Given the description of an element on the screen output the (x, y) to click on. 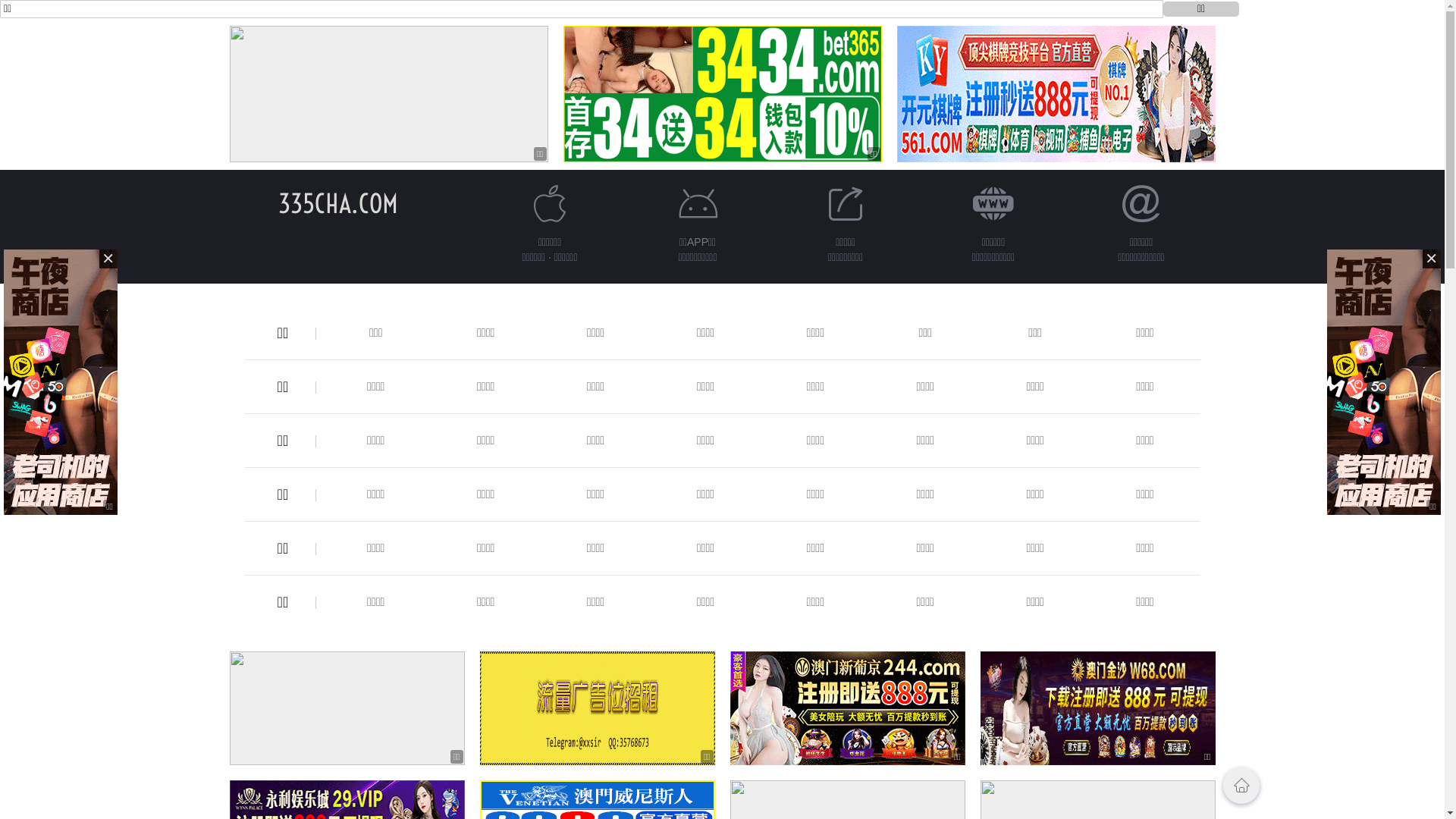
335CHA.COM Element type: text (337, 203)
